Given the description of an element on the screen output the (x, y) to click on. 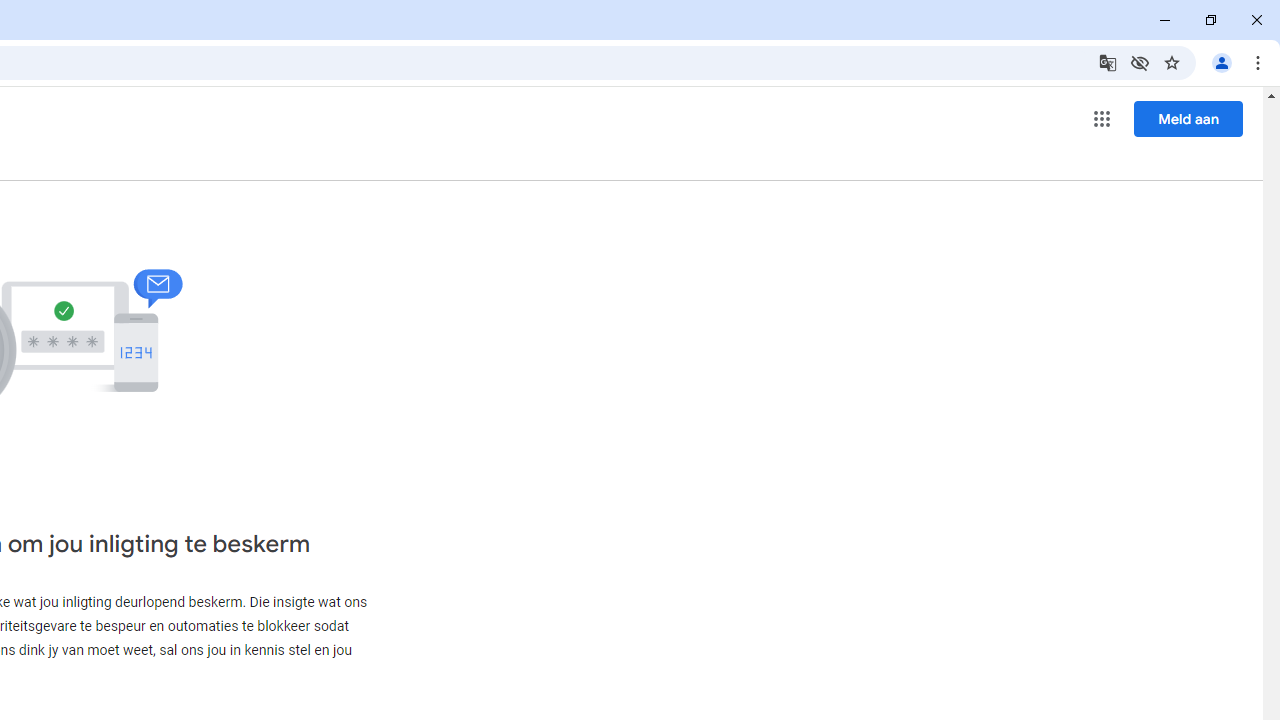
Google-programme (1101, 118)
Translate this page (1107, 62)
Meld aan (1188, 118)
